Given the description of an element on the screen output the (x, y) to click on. 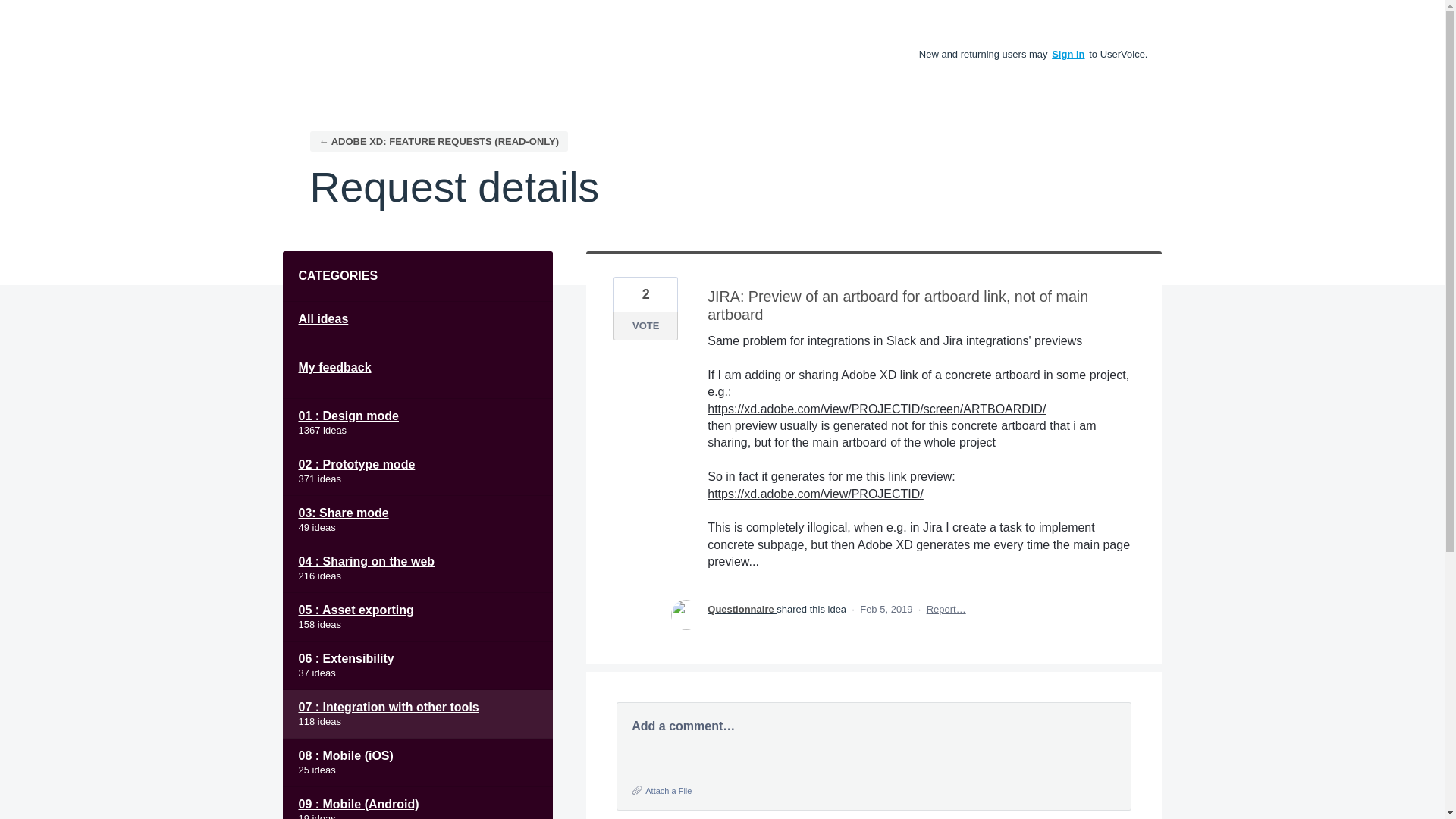
Sign In (1067, 53)
01 : Design mode (417, 422)
07 : Integration with other tools (417, 714)
All ideas (417, 326)
View all ideas in category 03: Share mode (417, 520)
My feedback (417, 374)
View all ideas in category 07 : Integration with other tools (417, 714)
Skip to content (12, 12)
View all ideas in category 05 : Asset exporting (417, 616)
View all ideas in category 01 : Design mode (417, 422)
Questionnaire (741, 609)
02 : Prototype mode (417, 471)
05 : Asset exporting (417, 616)
View all ideas in category 06 : Extensibility (417, 665)
VOTE (645, 326)
